Given the description of an element on the screen output the (x, y) to click on. 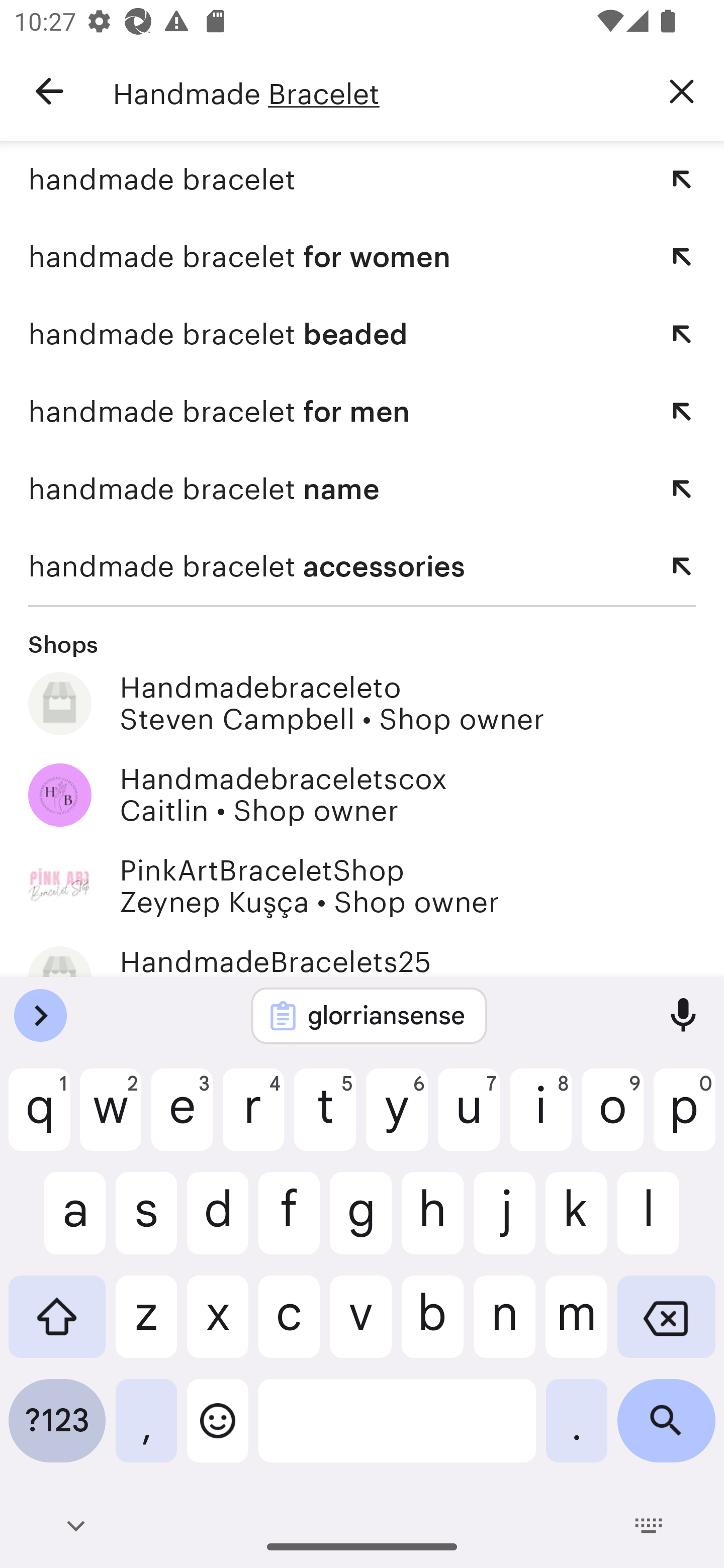
Navigate up (49, 91)
Clear query (681, 90)
Handmade Bracelet (375, 91)
